Given the description of an element on the screen output the (x, y) to click on. 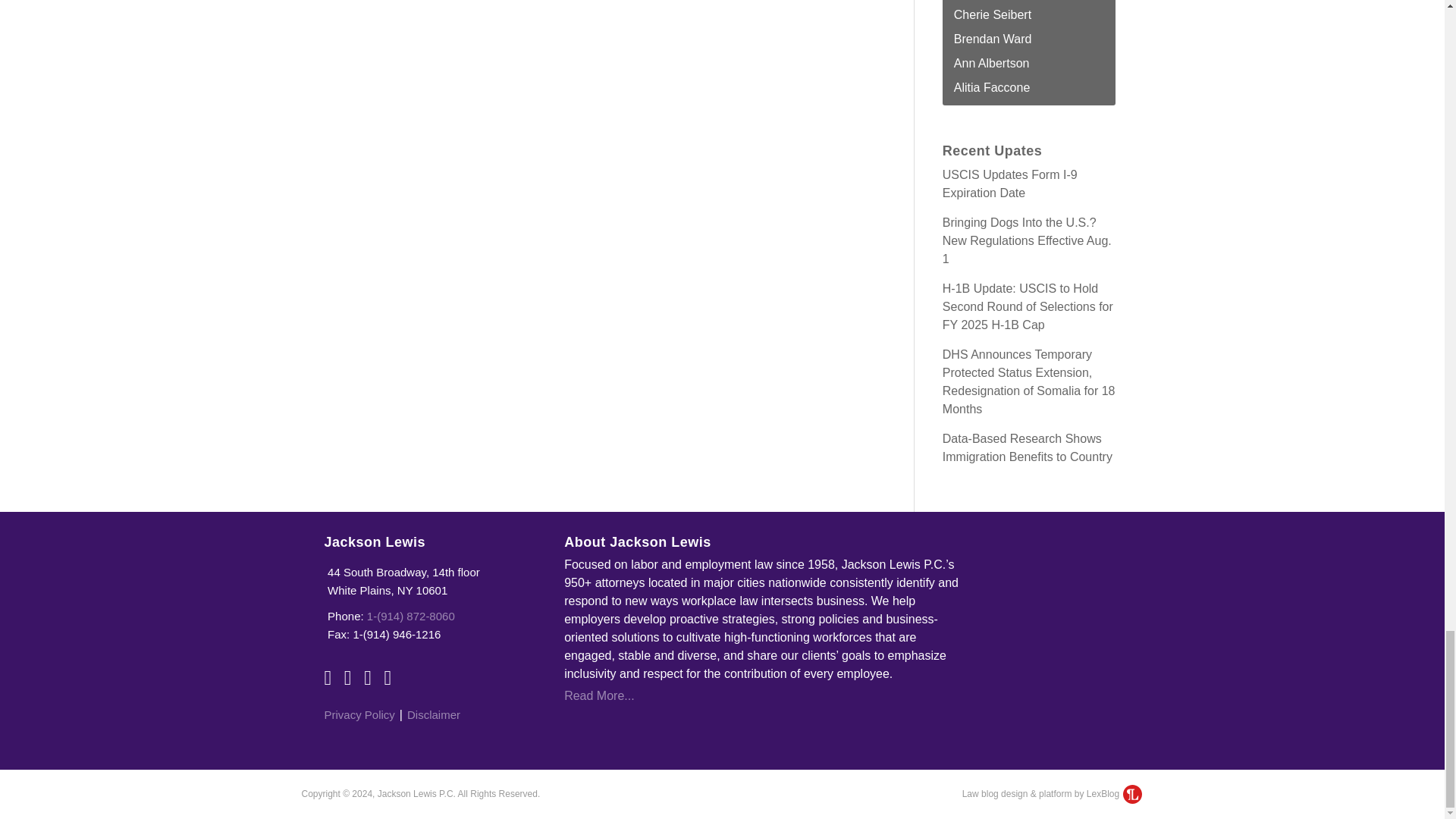
LexBlog Logo (1131, 793)
